Given the description of an element on the screen output the (x, y) to click on. 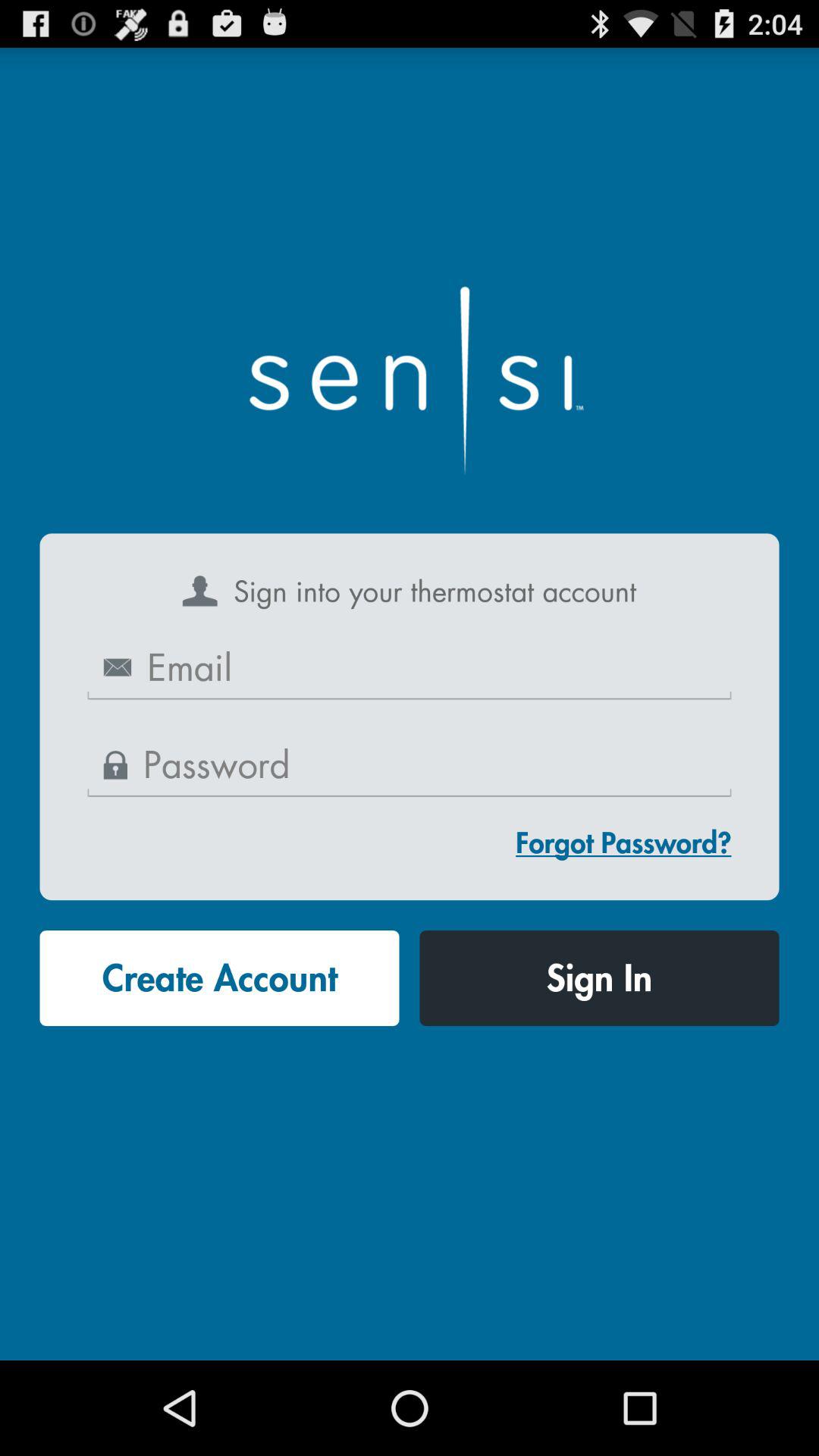
insert the password (409, 765)
